Given the description of an element on the screen output the (x, y) to click on. 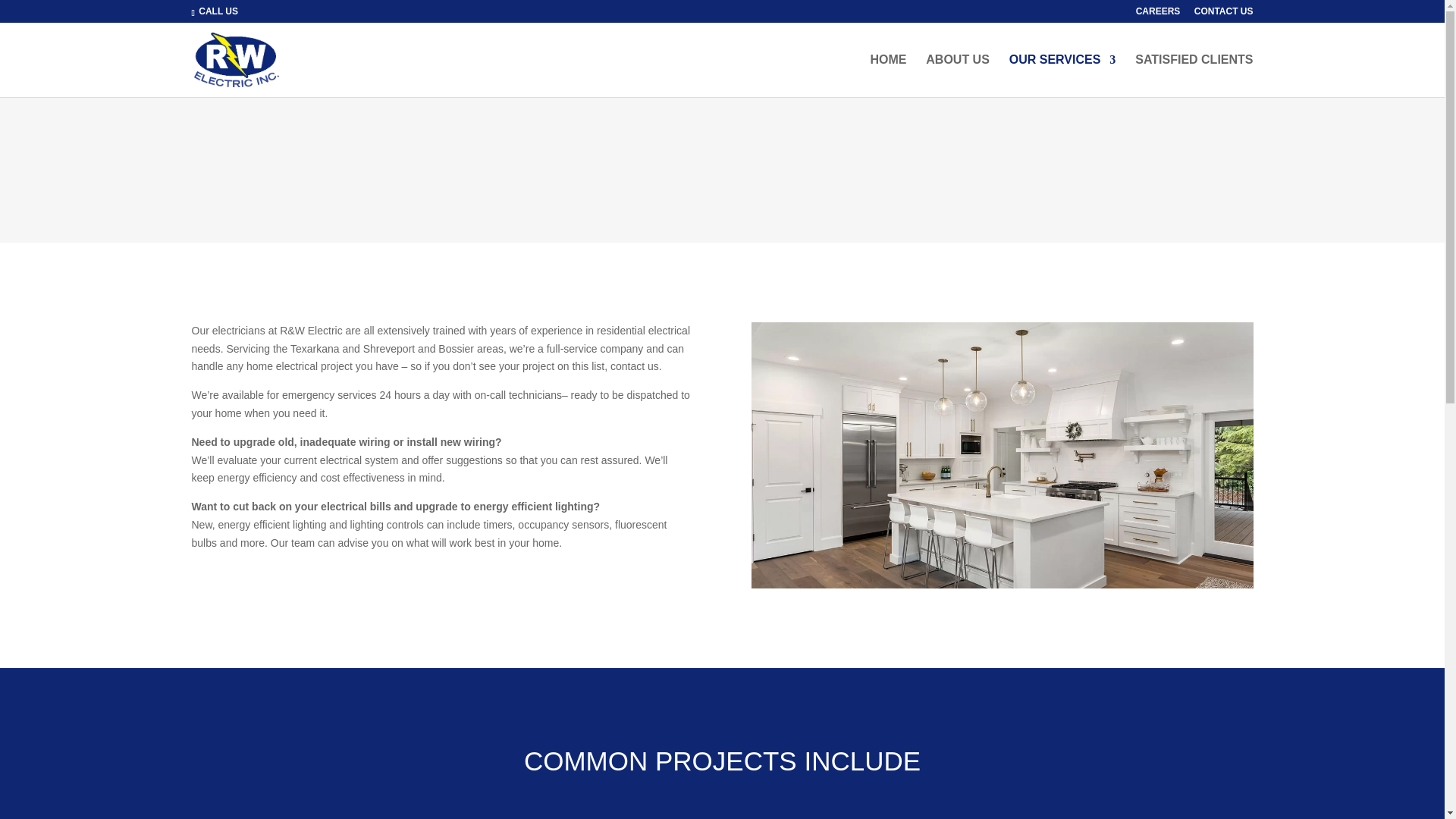
CALL US (218, 10)
CAREERS (1157, 14)
OUR SERVICES (1062, 75)
ABOUT US (958, 75)
CONTACT US (1223, 14)
SATISFIED CLIENTS (1193, 75)
